Given the description of an element on the screen output the (x, y) to click on. 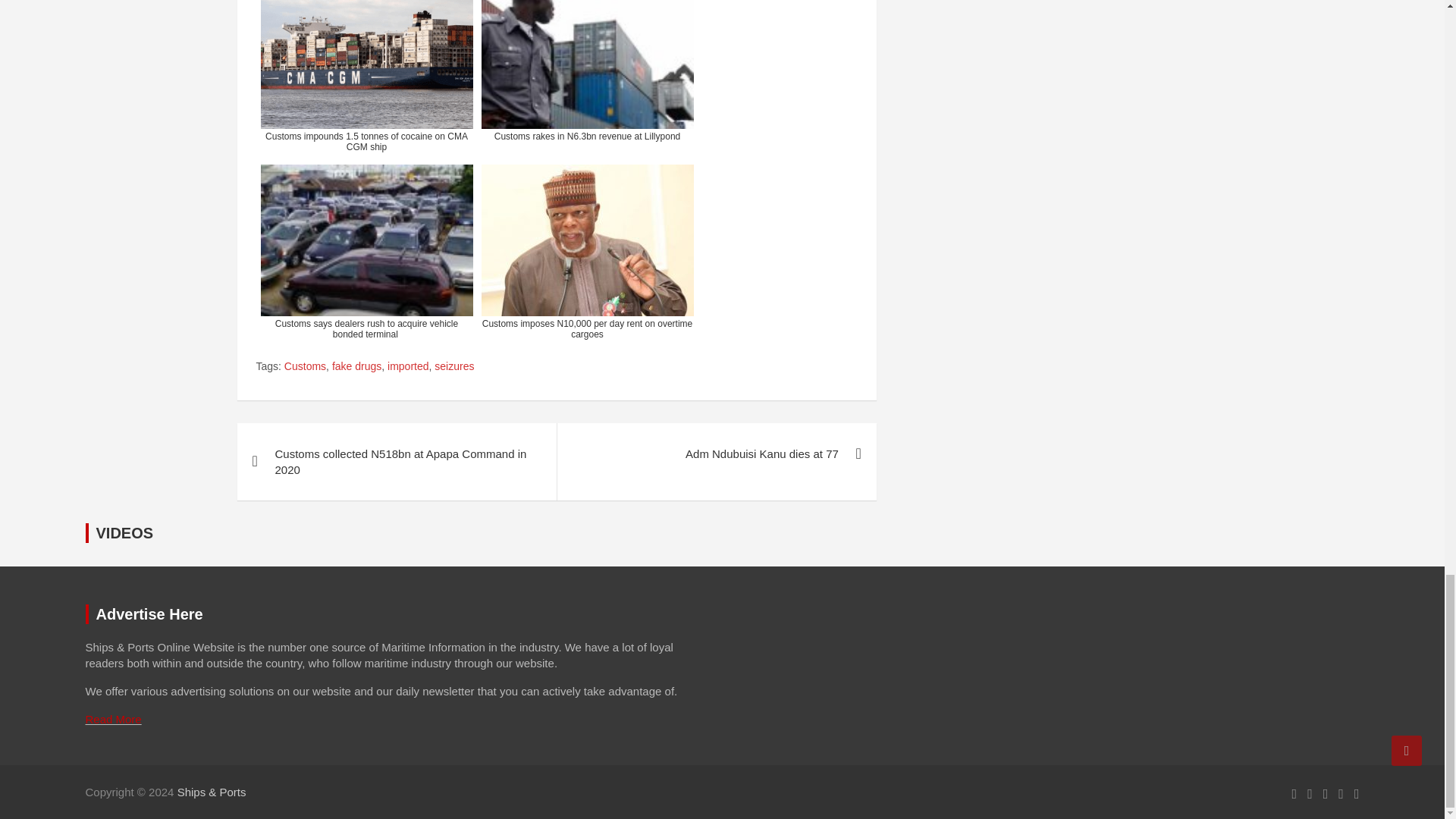
Customs imposes N10,000 per day rent on overtime cargoes (586, 251)
Customs rakes in N6.3bn revenue at Lillypond (586, 78)
Customs impounds 1.5 tonnes of cocaine on CMA CGM ship (366, 78)
